Given the description of an element on the screen output the (x, y) to click on. 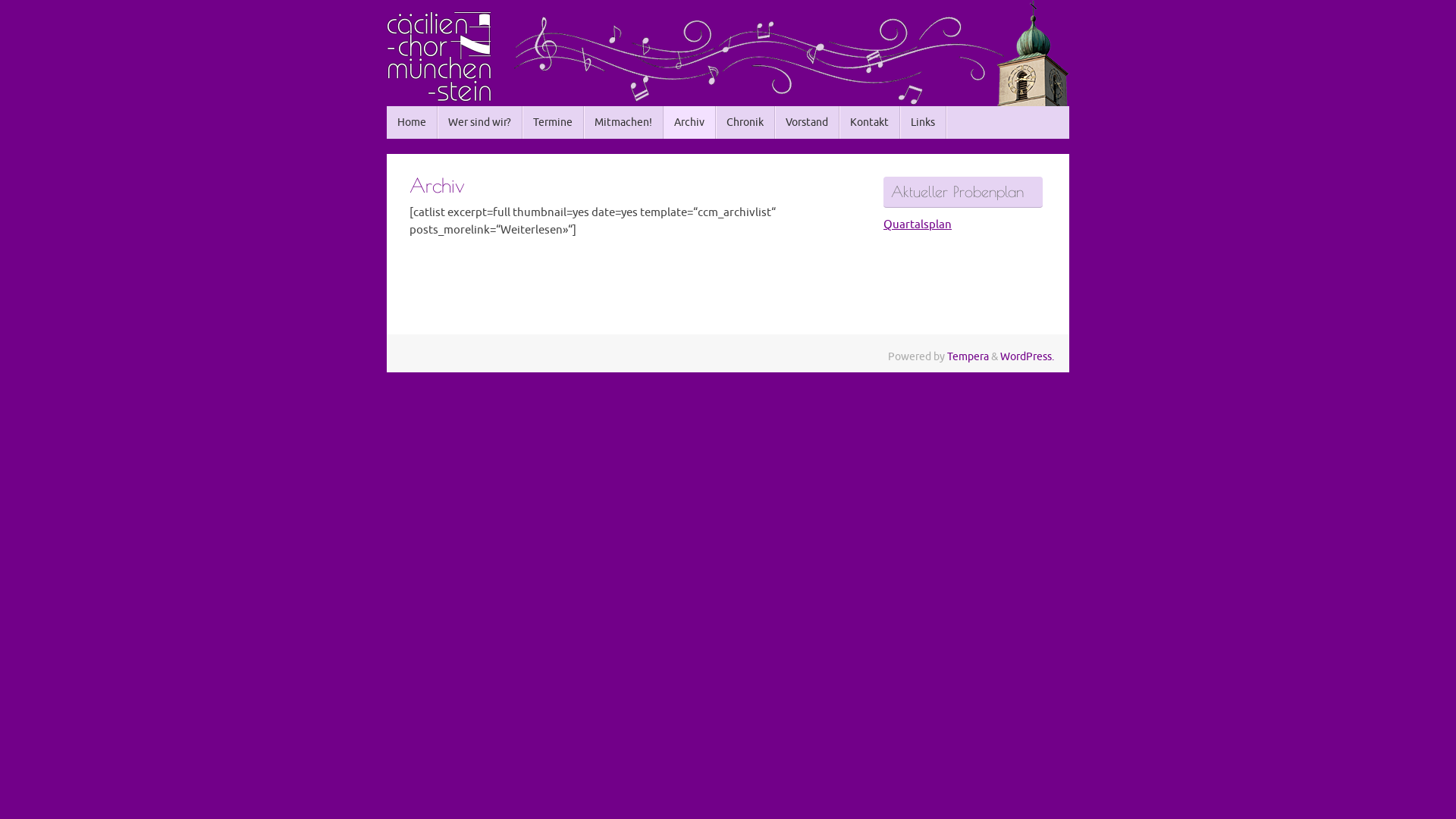
Quartalsplan Element type: text (917, 224)
Zum Inhalt springen Element type: text (385, 129)
Kontakt Element type: text (869, 122)
Home Element type: text (411, 122)
Archiv Element type: text (689, 122)
Wer sind wir? Element type: text (479, 122)
Mitmachen! Element type: text (623, 122)
Tempera Element type: text (967, 356)
WordPress. Element type: text (1027, 356)
Links Element type: text (923, 122)
Vorstand Element type: text (807, 122)
Termine Element type: text (552, 122)
Chronik Element type: text (745, 122)
